Given the description of an element on the screen output the (x, y) to click on. 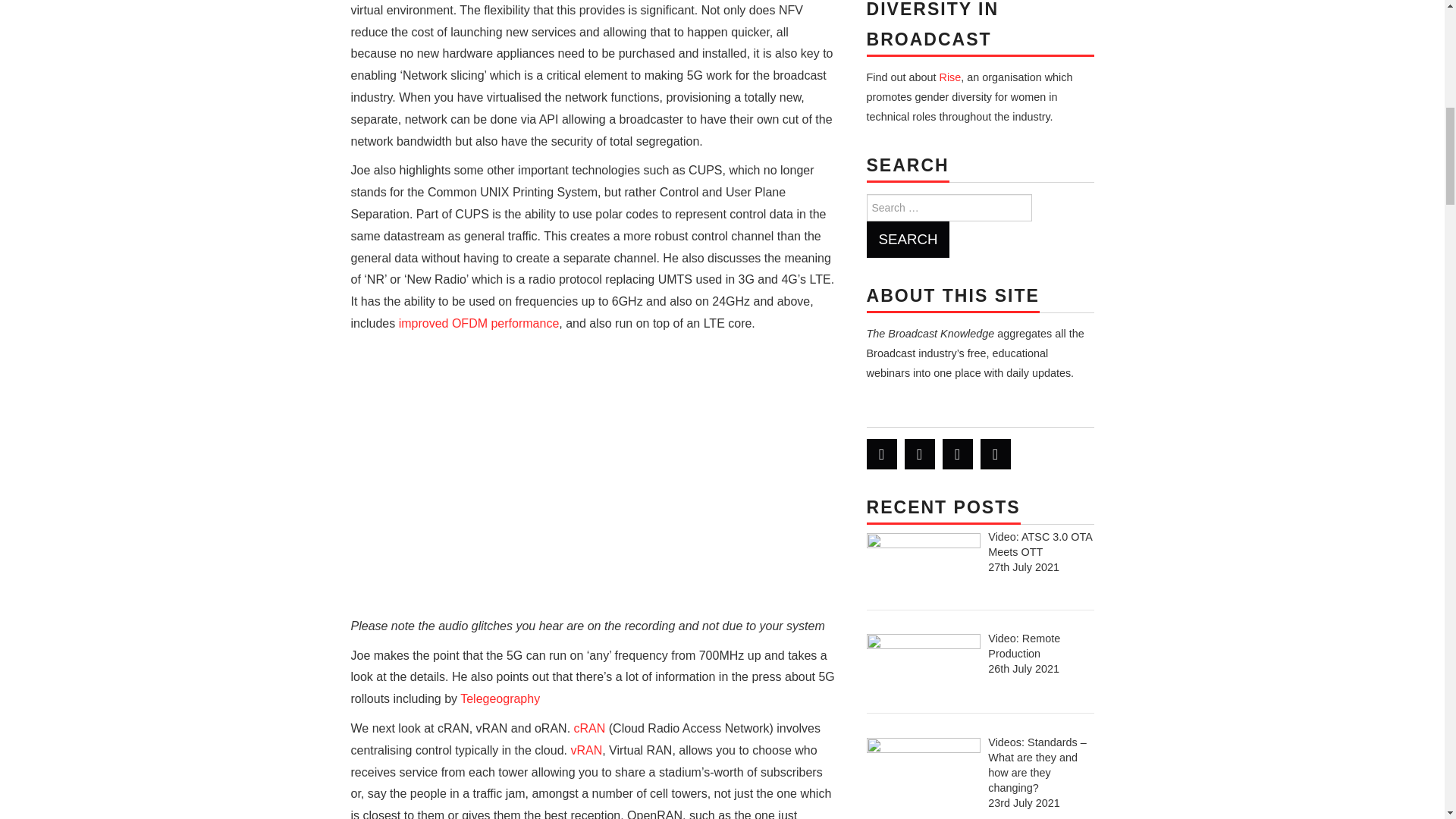
improved OFDM performance (478, 323)
Search (907, 239)
cRAN (589, 727)
YouTube player (592, 479)
Search (907, 239)
Telegeography (500, 698)
Search for: (948, 207)
vRAN (586, 749)
Twitter (881, 453)
